Given the description of an element on the screen output the (x, y) to click on. 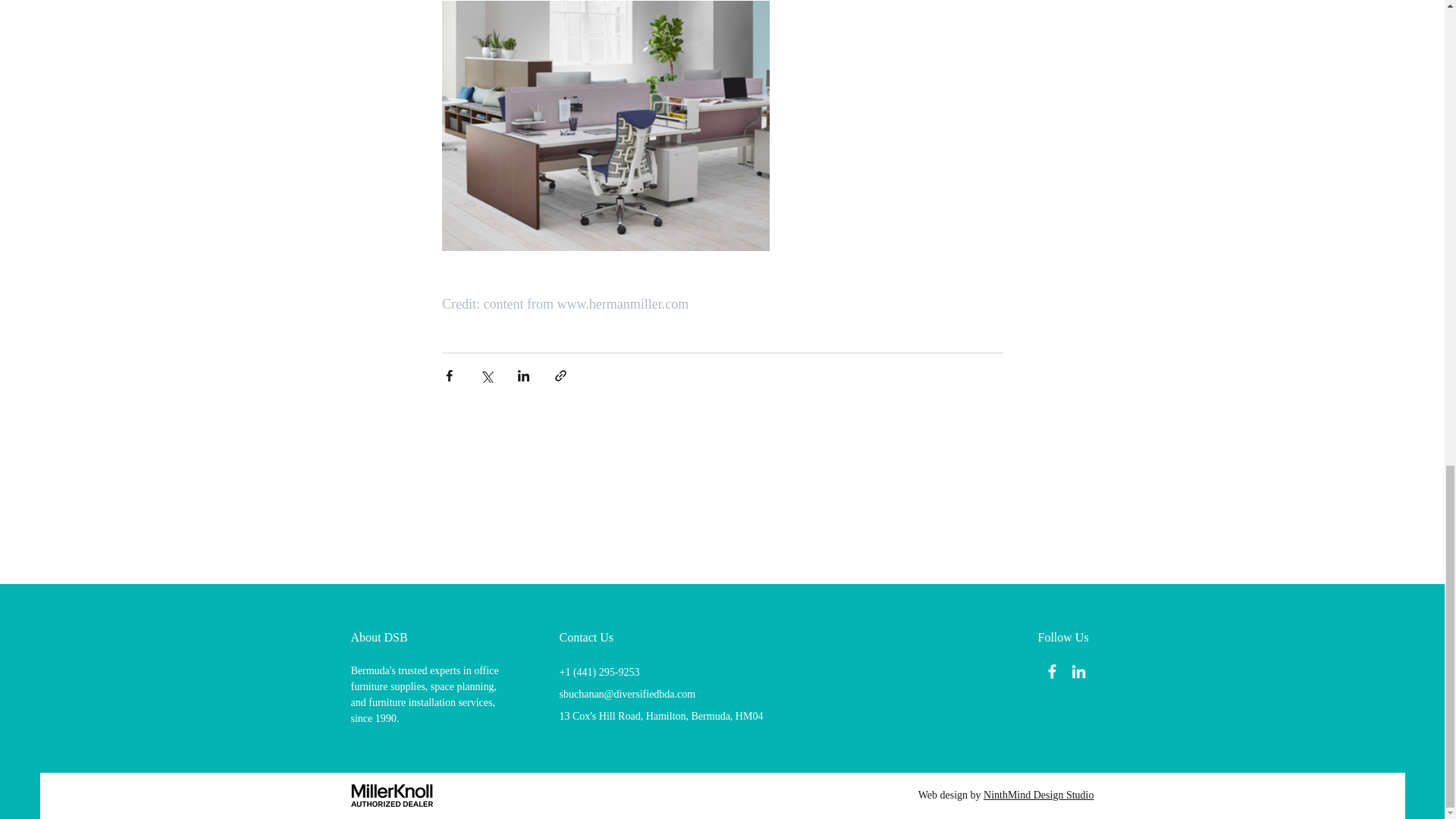
MK - Authorized Dealer - Black.png (391, 794)
NinthMind Design Studio (1038, 794)
